Given the description of an element on the screen output the (x, y) to click on. 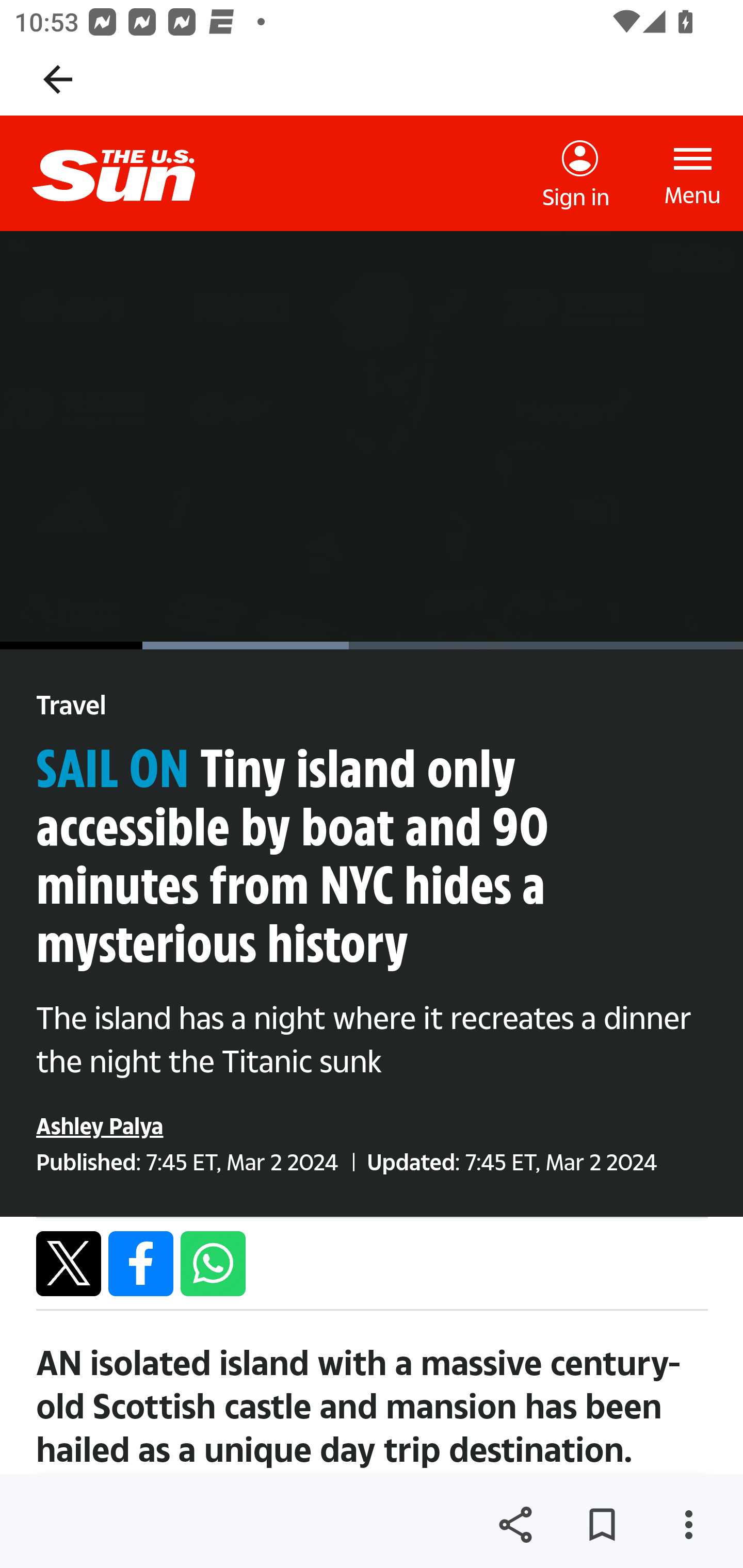
Navigate up (57, 79)
Sign in to The Sun Sign in (576, 173)
The US Sun homepage The Sun (129, 172)
Open Navigation Menu (693, 172)
Travel (71, 705)
Posts by Ashley Palya Ashley Palya (100, 1125)
Share by twitter (69, 1262)
Share by facebook (141, 1262)
Share by whatsapp (212, 1262)
Share (514, 1524)
Save for later (601, 1524)
More options (688, 1524)
